Given the description of an element on the screen output the (x, y) to click on. 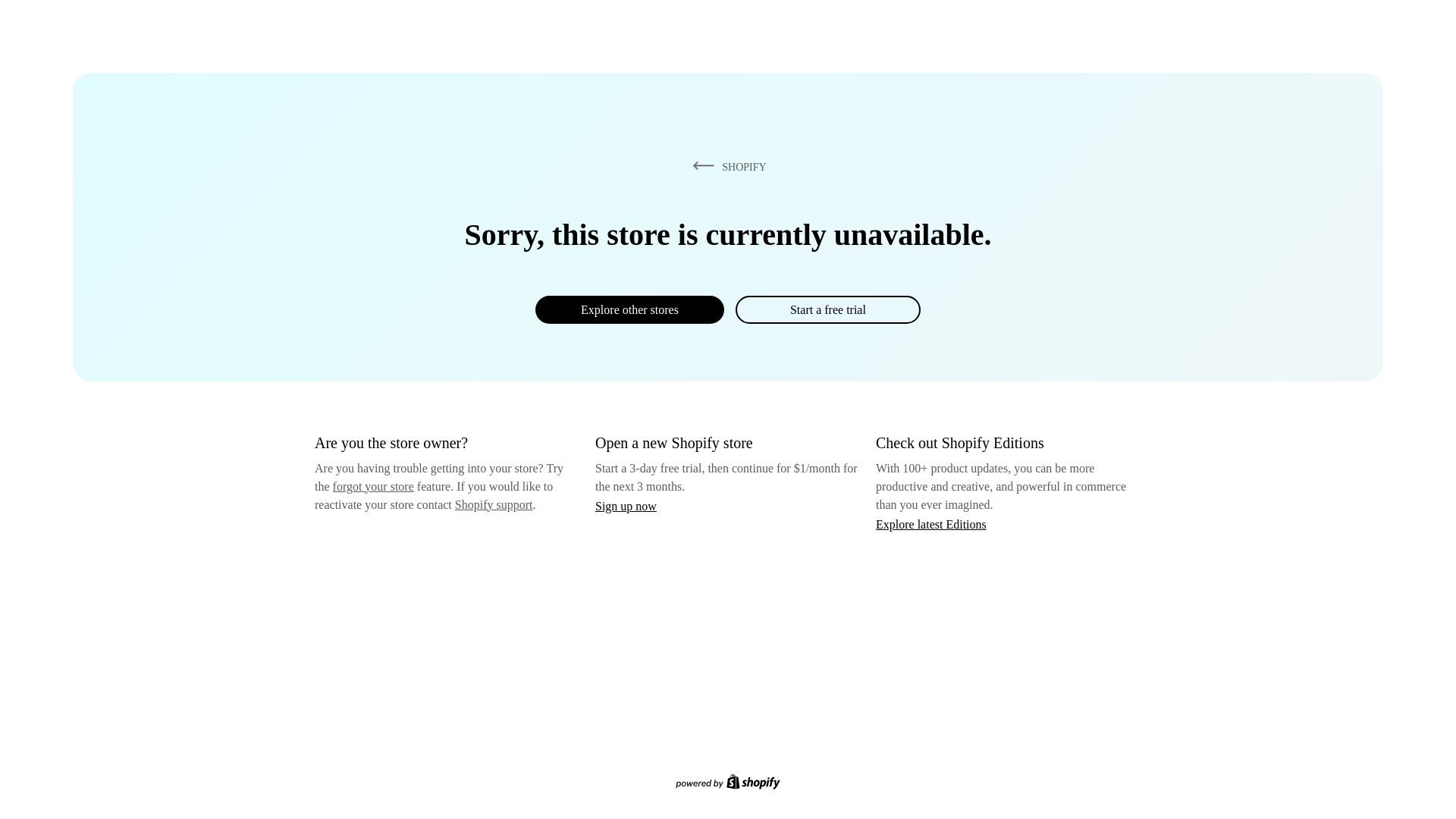
Explore other stores (629, 309)
Shopify support (493, 504)
forgot your store (373, 486)
SHOPIFY (726, 166)
Start a free trial (827, 309)
Explore latest Editions (931, 523)
Sign up now (625, 505)
